Given the description of an element on the screen output the (x, y) to click on. 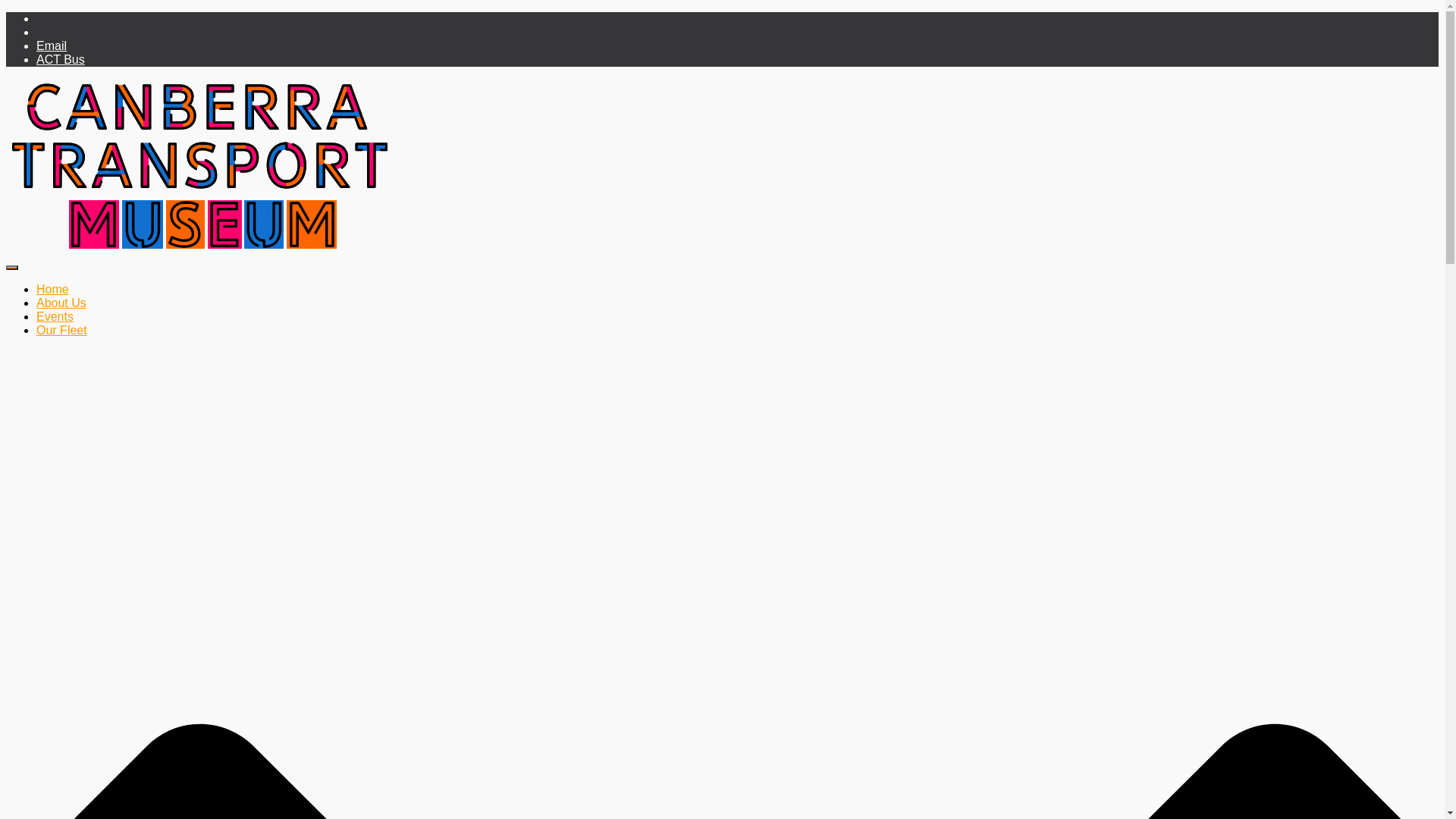
Home Element type: text (52, 288)
Email Element type: text (51, 45)
Events Element type: text (54, 316)
ACT Bus Element type: text (60, 59)
Canberra Transport Museum Element type: hover (201, 249)
Toggle Navigation Element type: text (12, 267)
About Us Element type: text (61, 302)
